Given the description of an element on the screen output the (x, y) to click on. 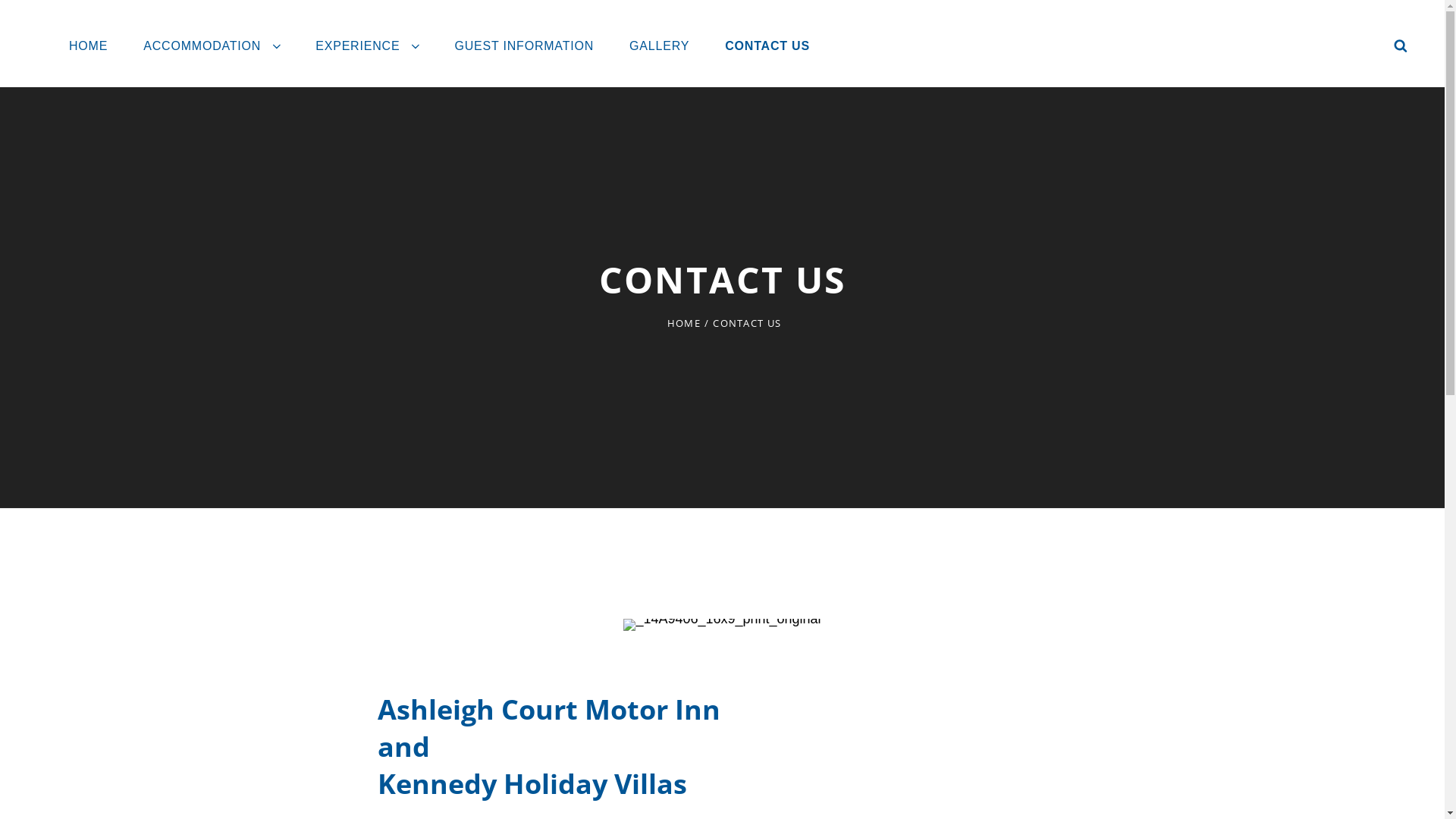
_14A9406_16x9_print_original Element type: hover (721, 624)
HOME Element type: text (683, 322)
HOME Element type: text (88, 46)
GALLERY Element type: text (659, 46)
EXPERIENCE Element type: text (366, 46)
ACCOMMODATION Element type: text (211, 46)
CONTACT US Element type: text (767, 46)
GUEST INFORMATION Element type: text (523, 46)
SEARCH Element type: text (1400, 45)
